Given the description of an element on the screen output the (x, y) to click on. 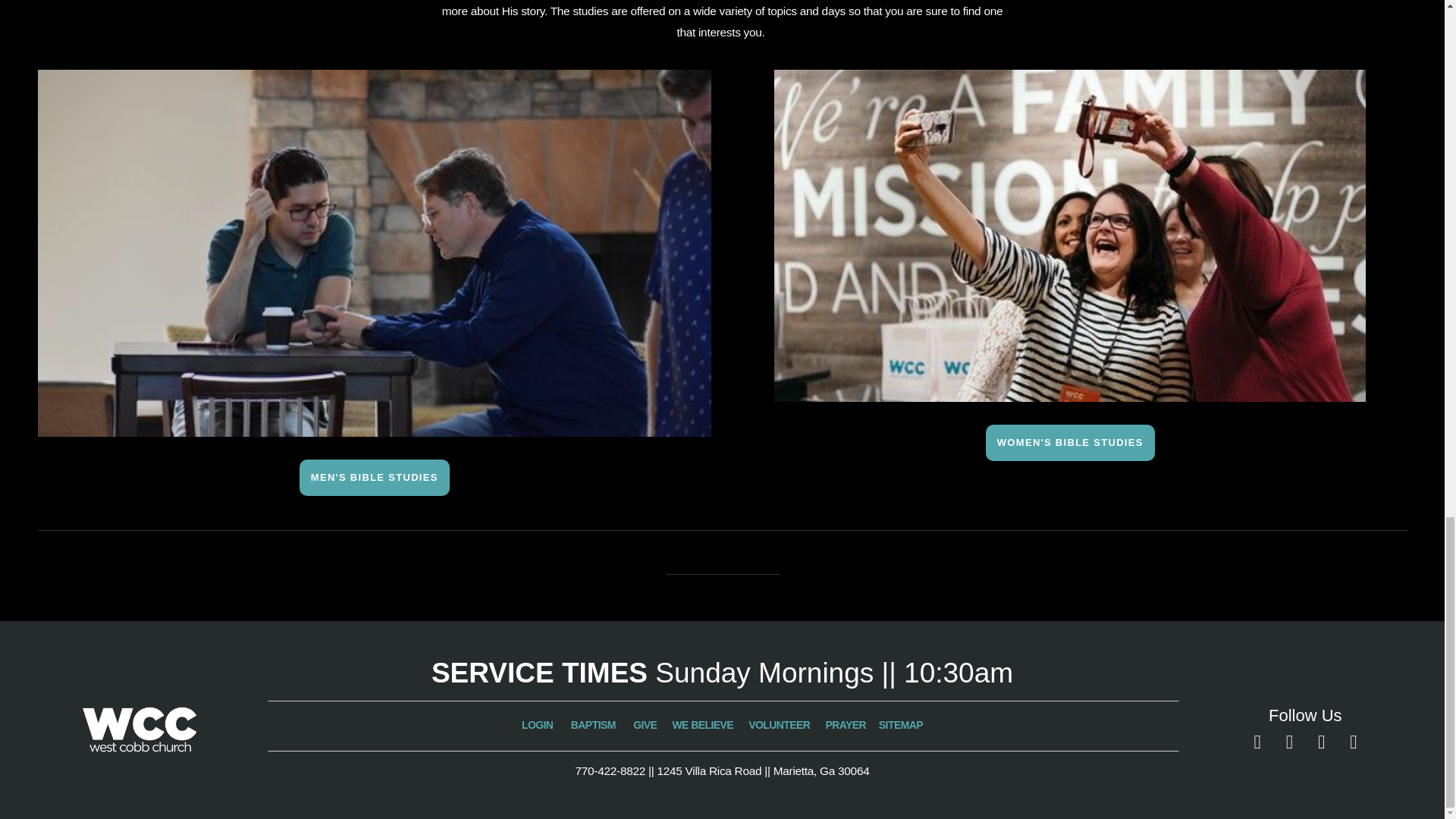
LOGIN  (538, 725)
WE BELIEVE   (704, 725)
 BAPTISM  (592, 725)
PRAYER (845, 725)
WOMEN'S BIBLE STUDIES (1069, 443)
MEN'S BIBLE STUDIES (374, 477)
SITEMAP (901, 725)
GIVE (644, 725)
VOLUNTEER (778, 725)
